Given the description of an element on the screen output the (x, y) to click on. 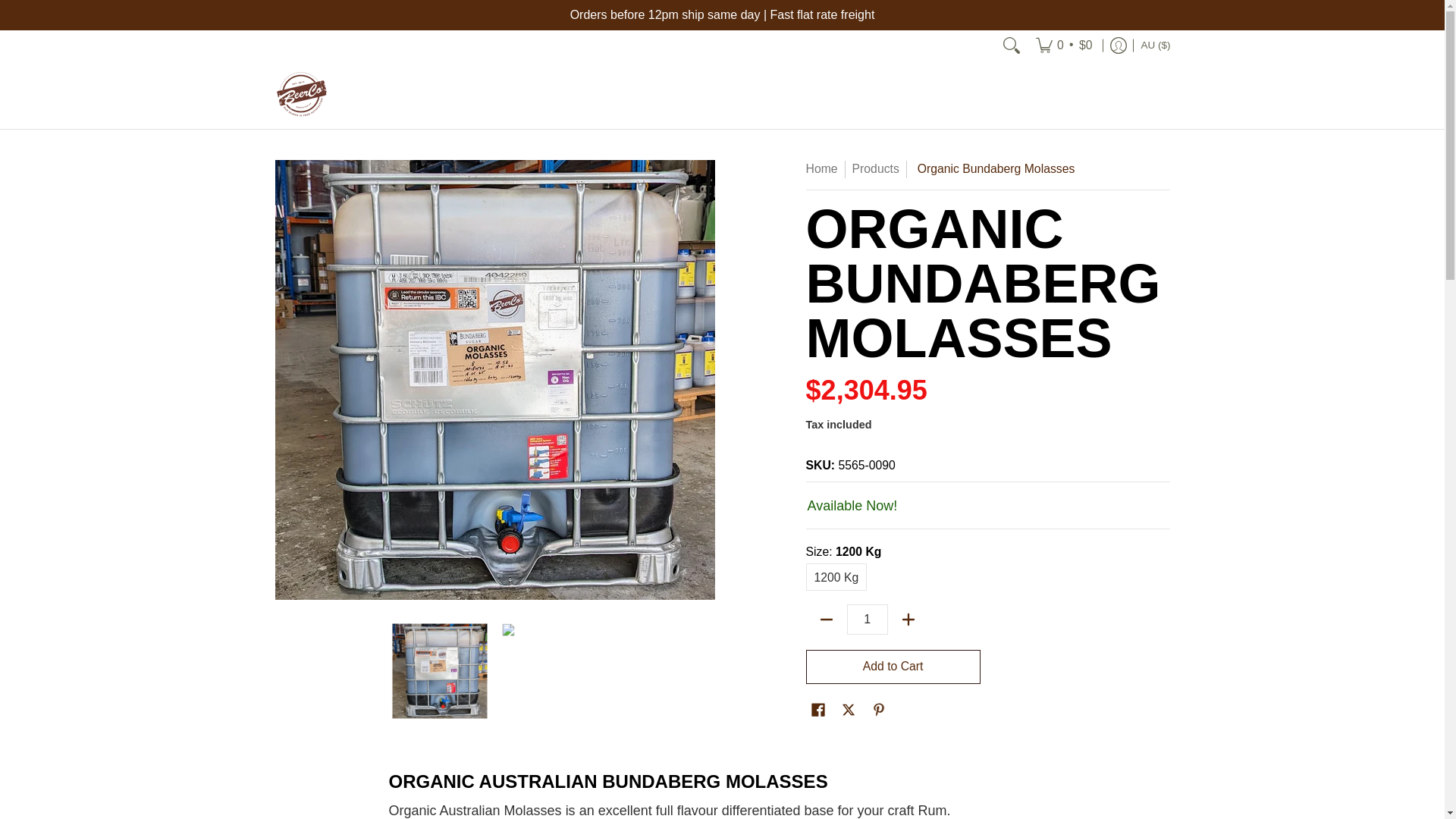
Log in (1118, 45)
BF (972, 57)
CV (966, 240)
KH (960, 130)
1200 Kg (836, 576)
1 (867, 619)
CA (955, 203)
Cart (1064, 45)
CM (965, 167)
BG (961, 20)
BI (958, 94)
